Given the description of an element on the screen output the (x, y) to click on. 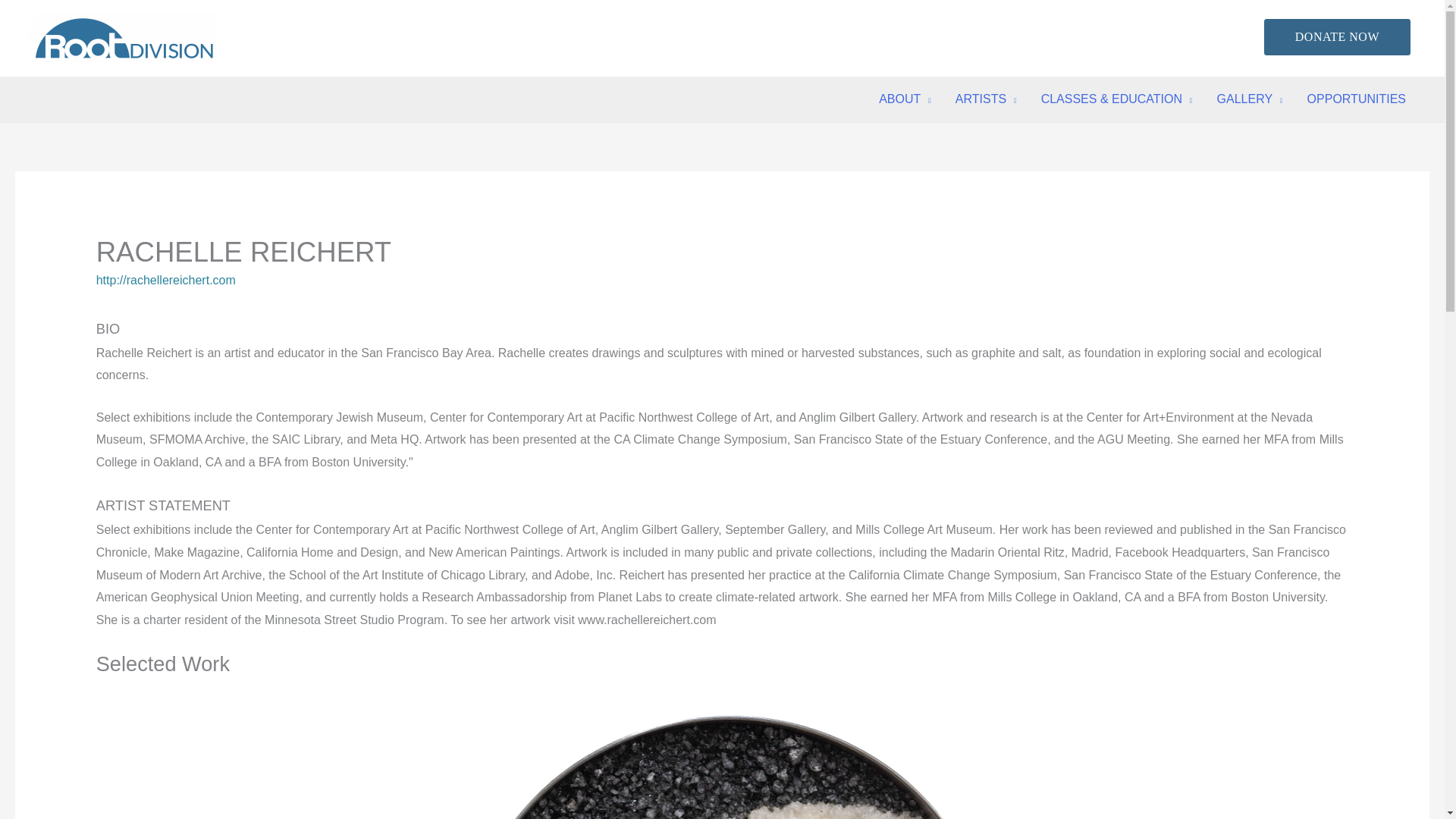
ARTISTS (986, 99)
GALLERY (1250, 99)
ABOUT (904, 99)
OPPORTUNITIES (1356, 99)
DONATE NOW (1336, 36)
